Given the description of an element on the screen output the (x, y) to click on. 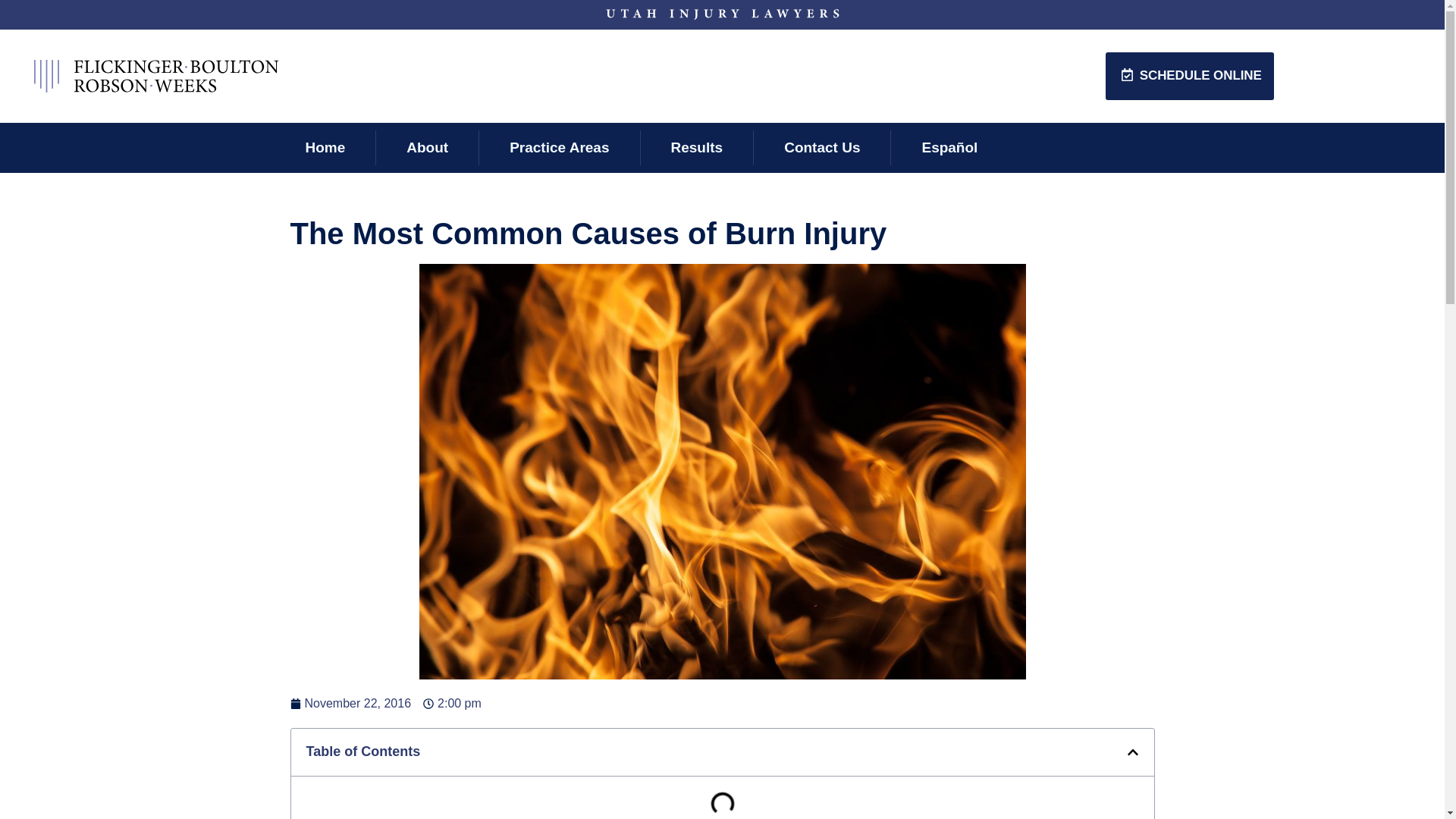
Home (324, 147)
SCHEDULE ONLINE (1189, 75)
Results (697, 147)
Practice Areas (559, 147)
About (427, 147)
Contact Us (821, 147)
